Given the description of an element on the screen output the (x, y) to click on. 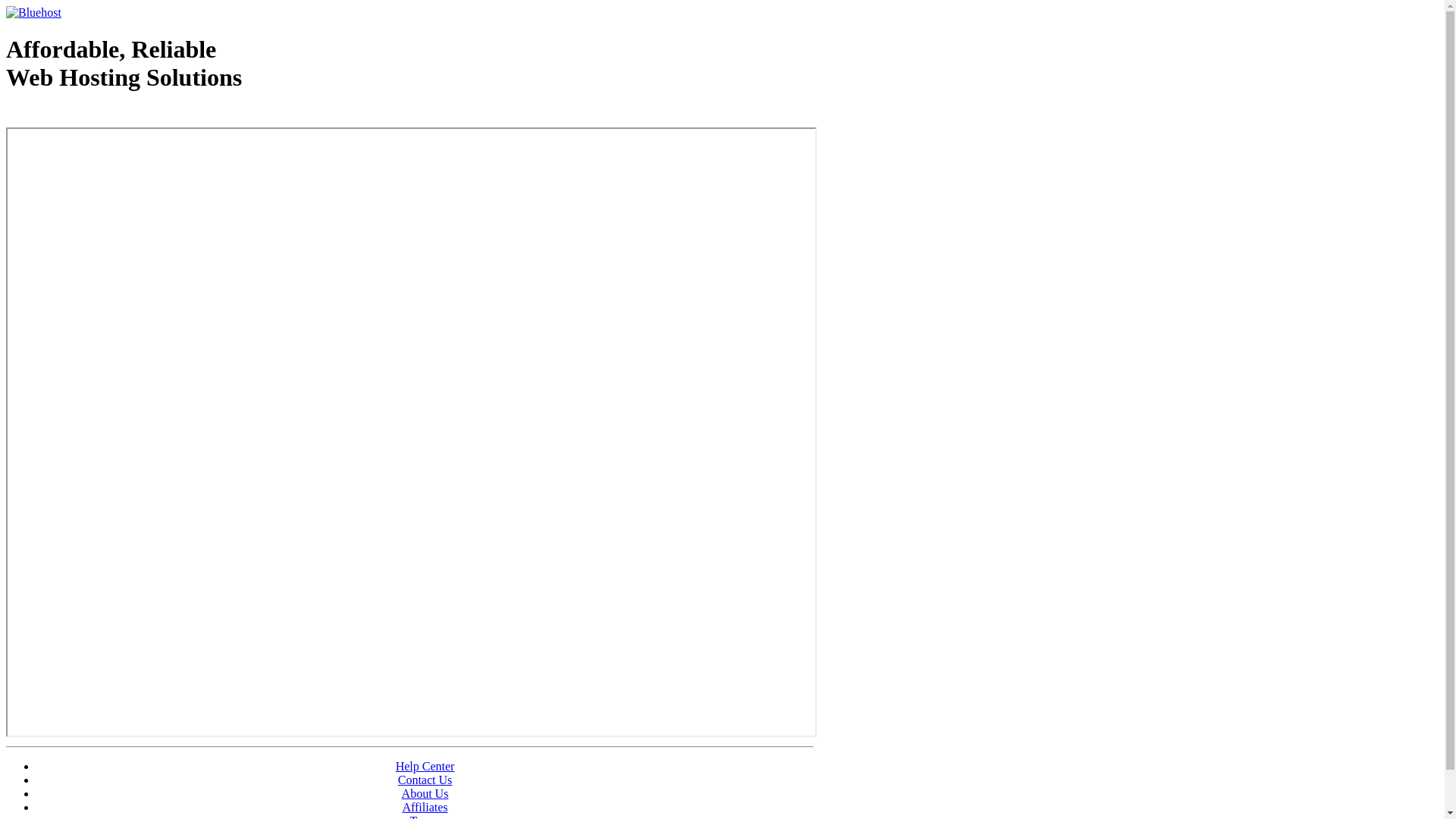
Affiliates Element type: text (424, 806)
Web Hosting - courtesy of www.bluehost.com Element type: text (94, 115)
Contact Us Element type: text (425, 779)
About Us Element type: text (424, 793)
Help Center Element type: text (425, 765)
